Given the description of an element on the screen output the (x, y) to click on. 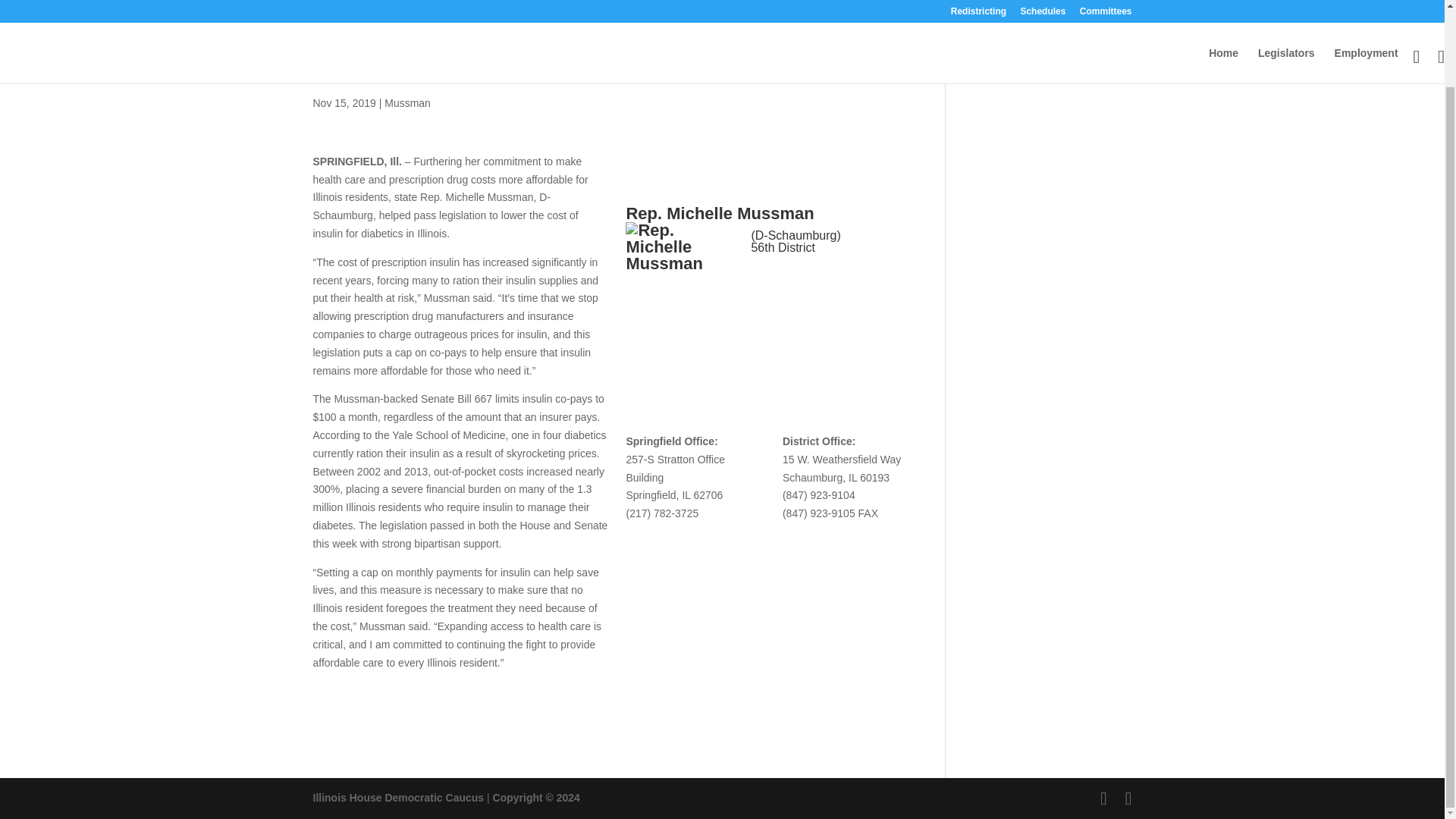
Follow on Facebook (762, 282)
Mussman (407, 102)
IL House Democrats (398, 797)
Illinois House Democratic Caucus (398, 797)
